Given the description of an element on the screen output the (x, y) to click on. 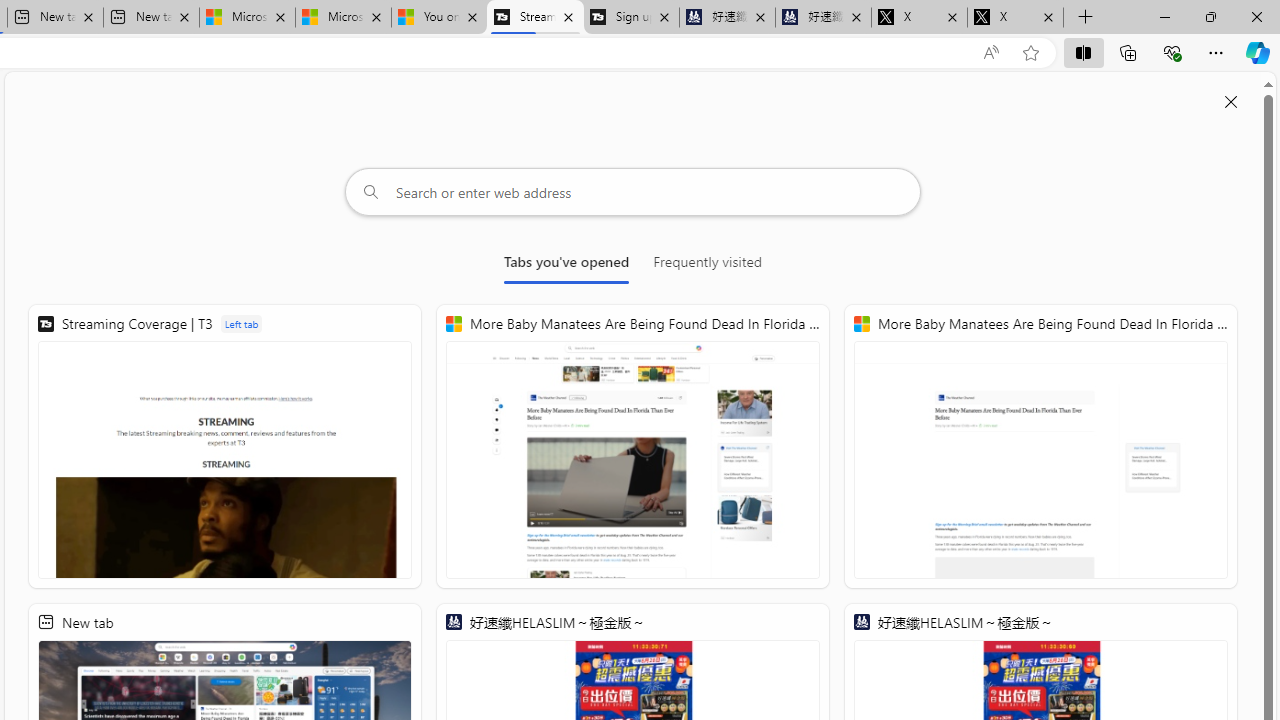
Search or enter web address (633, 191)
